Given the description of an element on the screen output the (x, y) to click on. 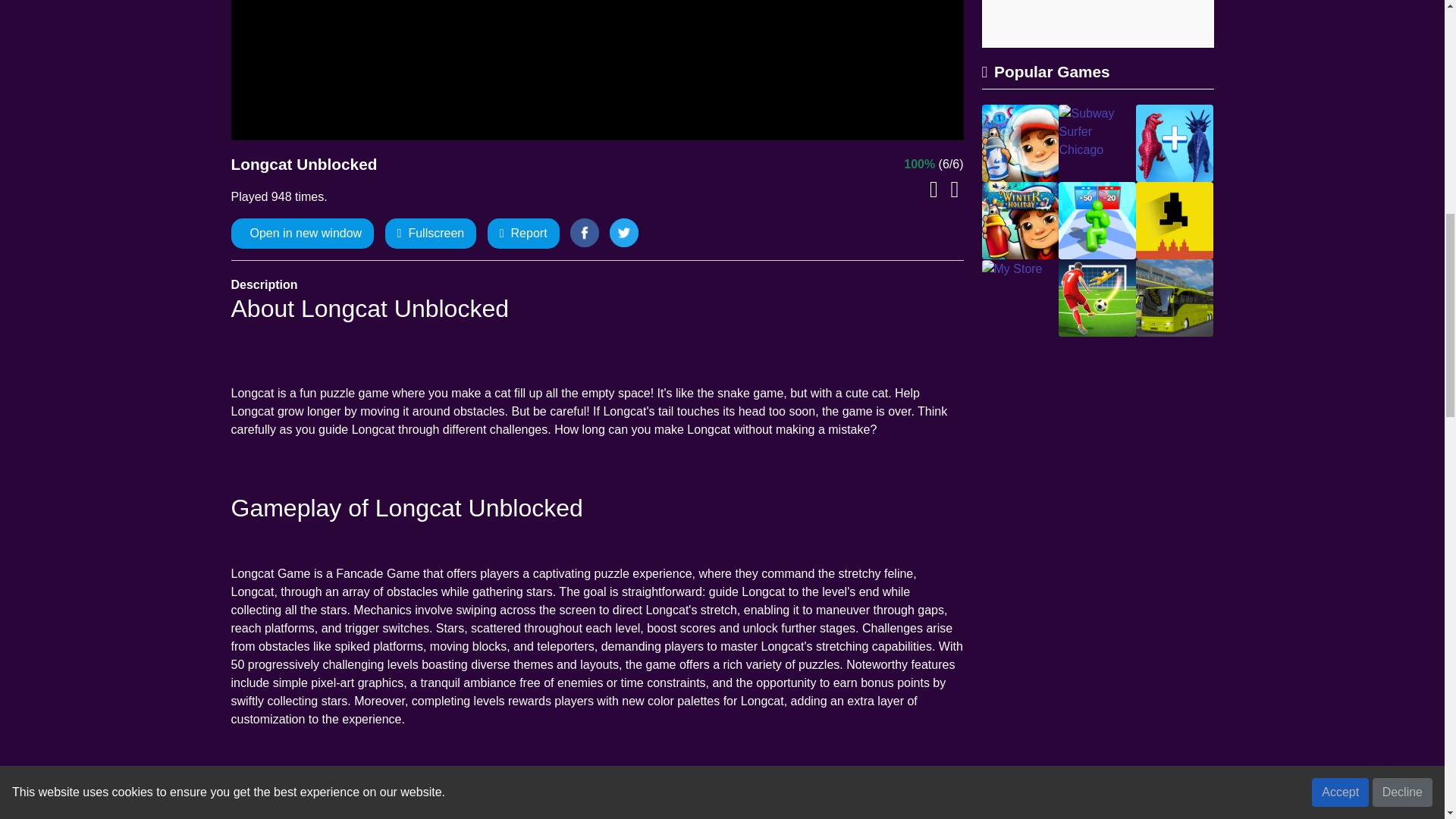
Advertisement (1096, 23)
